Given the description of an element on the screen output the (x, y) to click on. 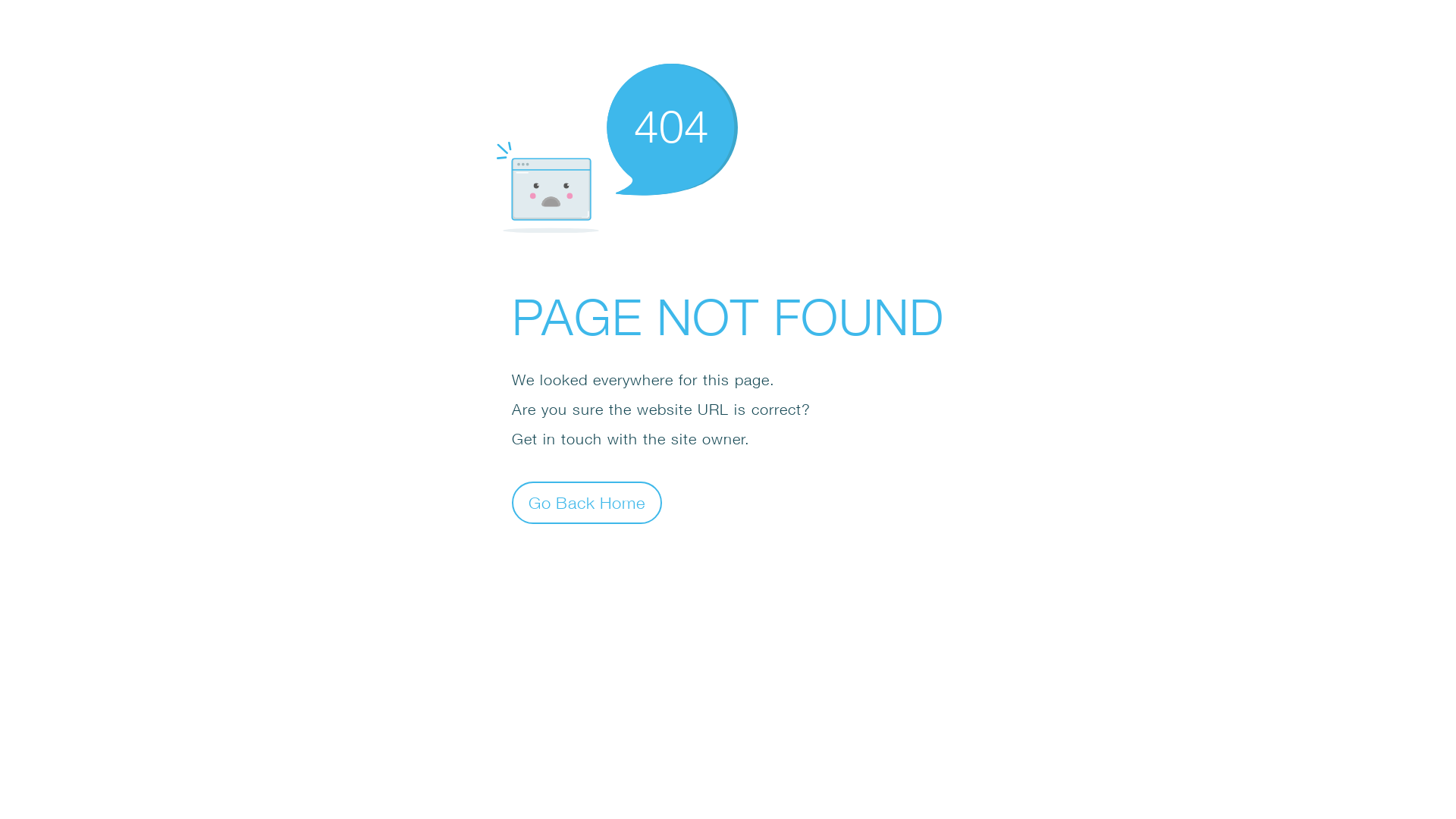
Go Back Home Element type: text (586, 502)
